Given the description of an element on the screen output the (x, y) to click on. 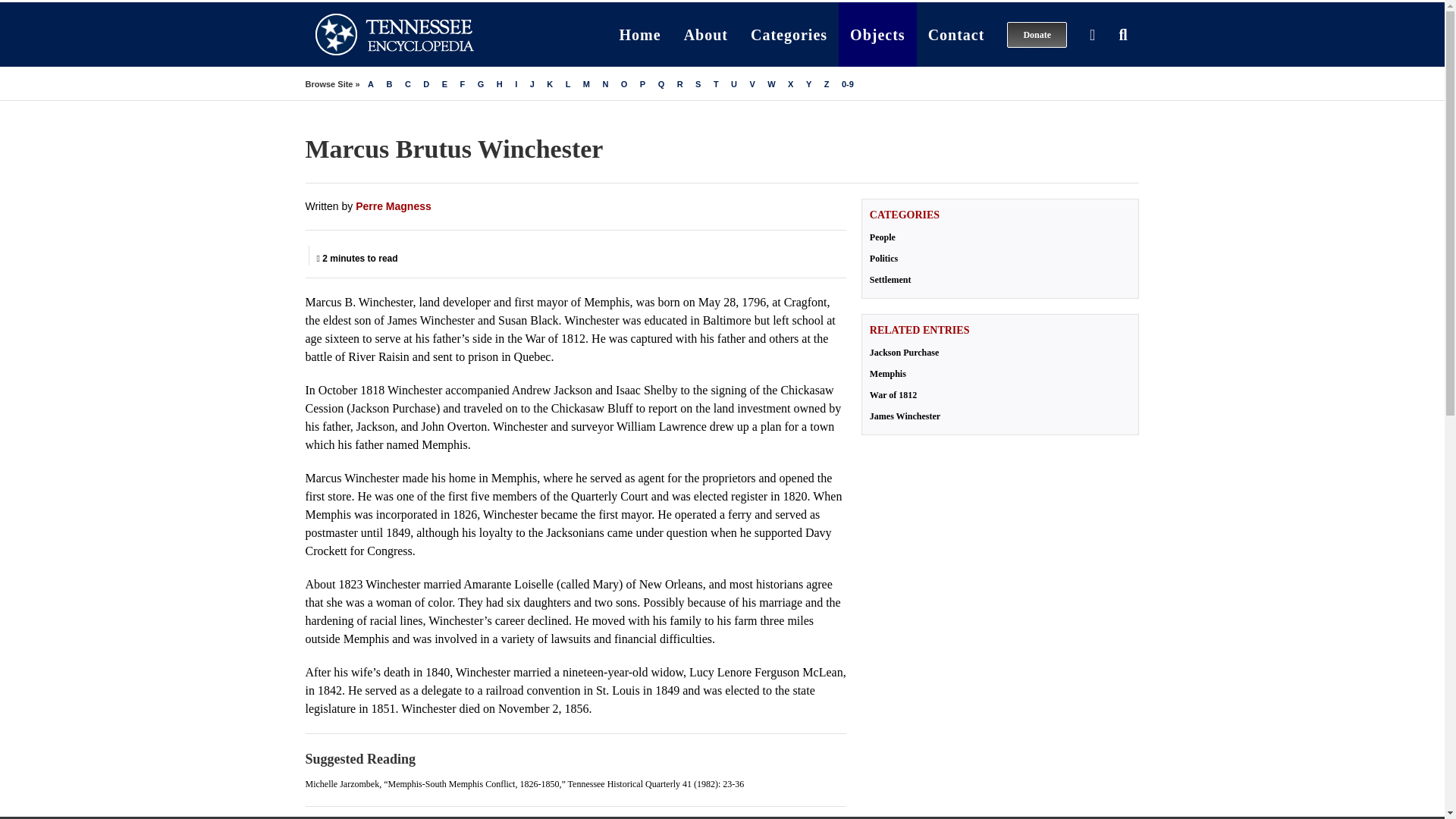
Contact (956, 34)
Read the entry. (1000, 395)
Donate (1036, 34)
Objects (877, 34)
Learn more about Perre Magness. (392, 205)
Categories (788, 34)
Home (640, 34)
About (705, 34)
Browse content in Settlement. (1000, 279)
Browse content in Politics. (1000, 258)
